Given the description of an element on the screen output the (x, y) to click on. 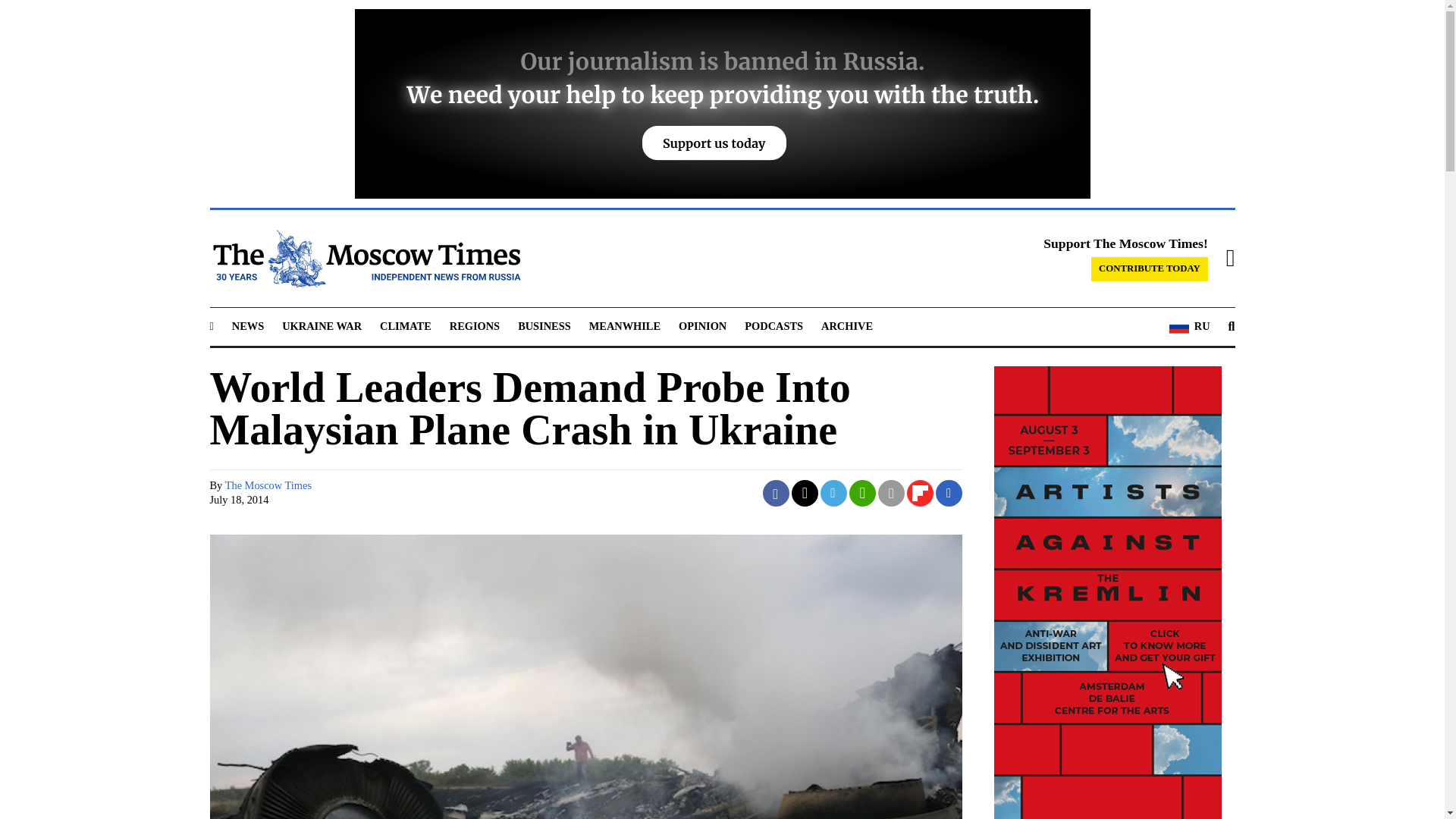
PODCASTS (773, 326)
The Moscow Times - Independent News from Russia (364, 258)
CONTRIBUTE TODAY (1149, 269)
REGIONS (474, 326)
OPINION (702, 326)
Share on Twitter (805, 492)
ARCHIVE (846, 326)
Share on Flipboard (920, 492)
BUSINESS (544, 326)
NEWS (247, 326)
CLIMATE (405, 326)
UKRAINE WAR (321, 326)
RU (1189, 326)
MEANWHILE (625, 326)
Share on Telegram (834, 492)
